Given the description of an element on the screen output the (x, y) to click on. 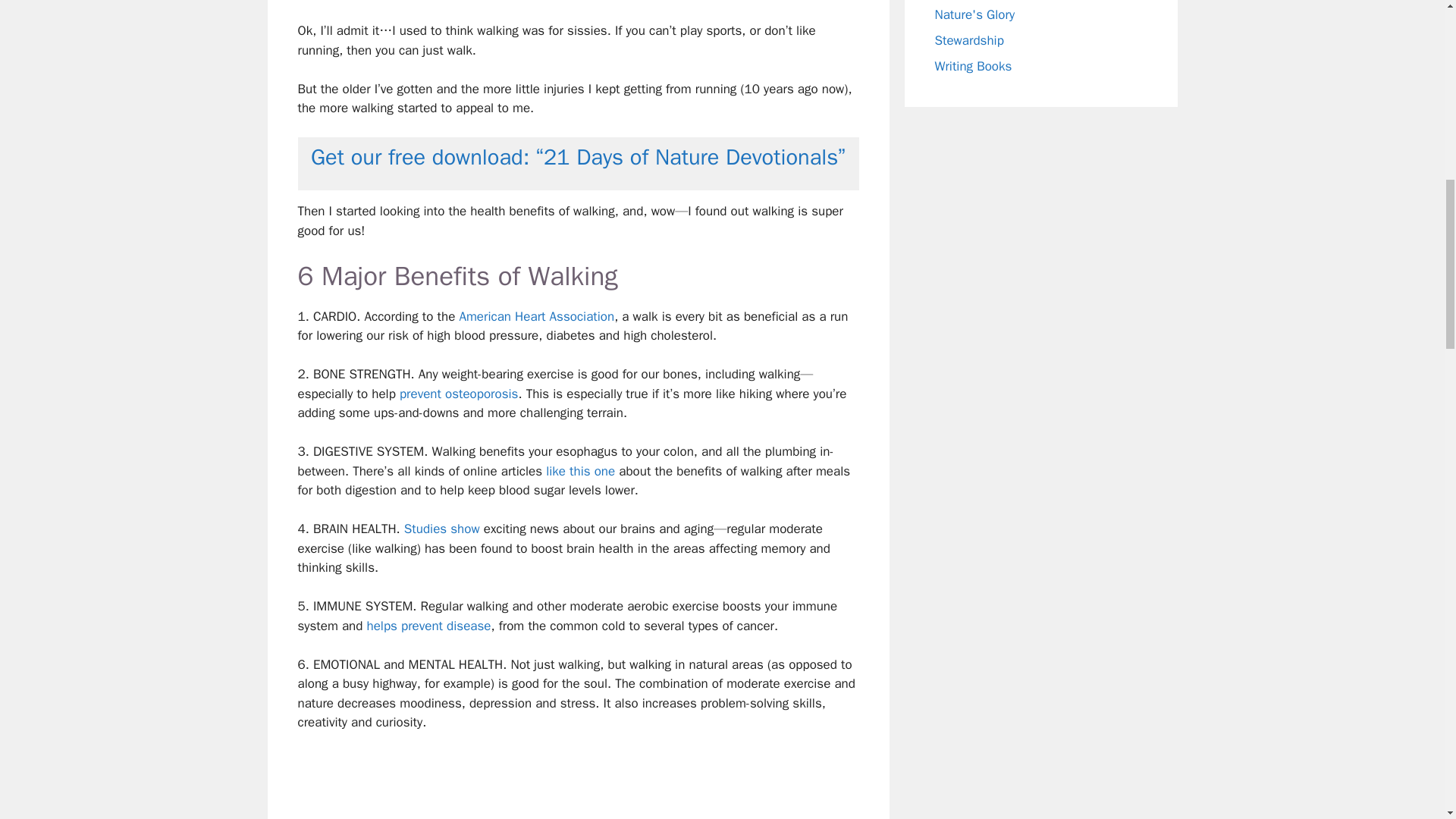
like this one (580, 471)
American Heart Association (536, 316)
helps prevent disease (429, 625)
prevent osteoporosis (458, 393)
Studies show (442, 528)
